Given the description of an element on the screen output the (x, y) to click on. 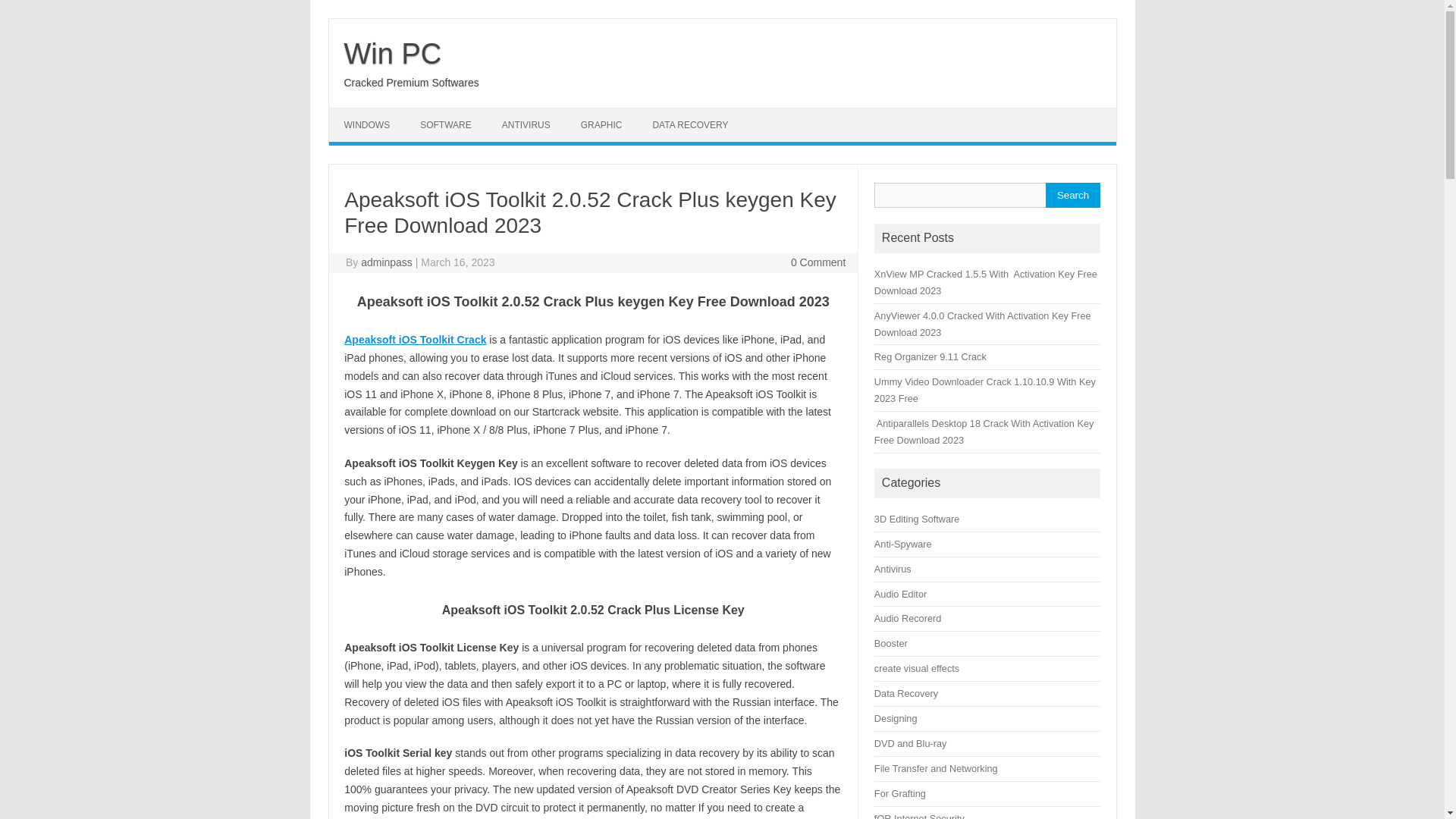
Ummy Video Downloader Crack 1.10.10.9 With Key 2023 Free (985, 389)
adminpass (386, 262)
Search (1072, 195)
ANTIVIRUS (526, 124)
Search (1072, 195)
WINDOWS (367, 124)
SOFTWARE (445, 124)
GRAPHIC (601, 124)
DATA RECOVERY (689, 124)
Apeaksoft iOS Toolkit Crack (414, 339)
Posts by adminpass (386, 262)
